Given the description of an element on the screen output the (x, y) to click on. 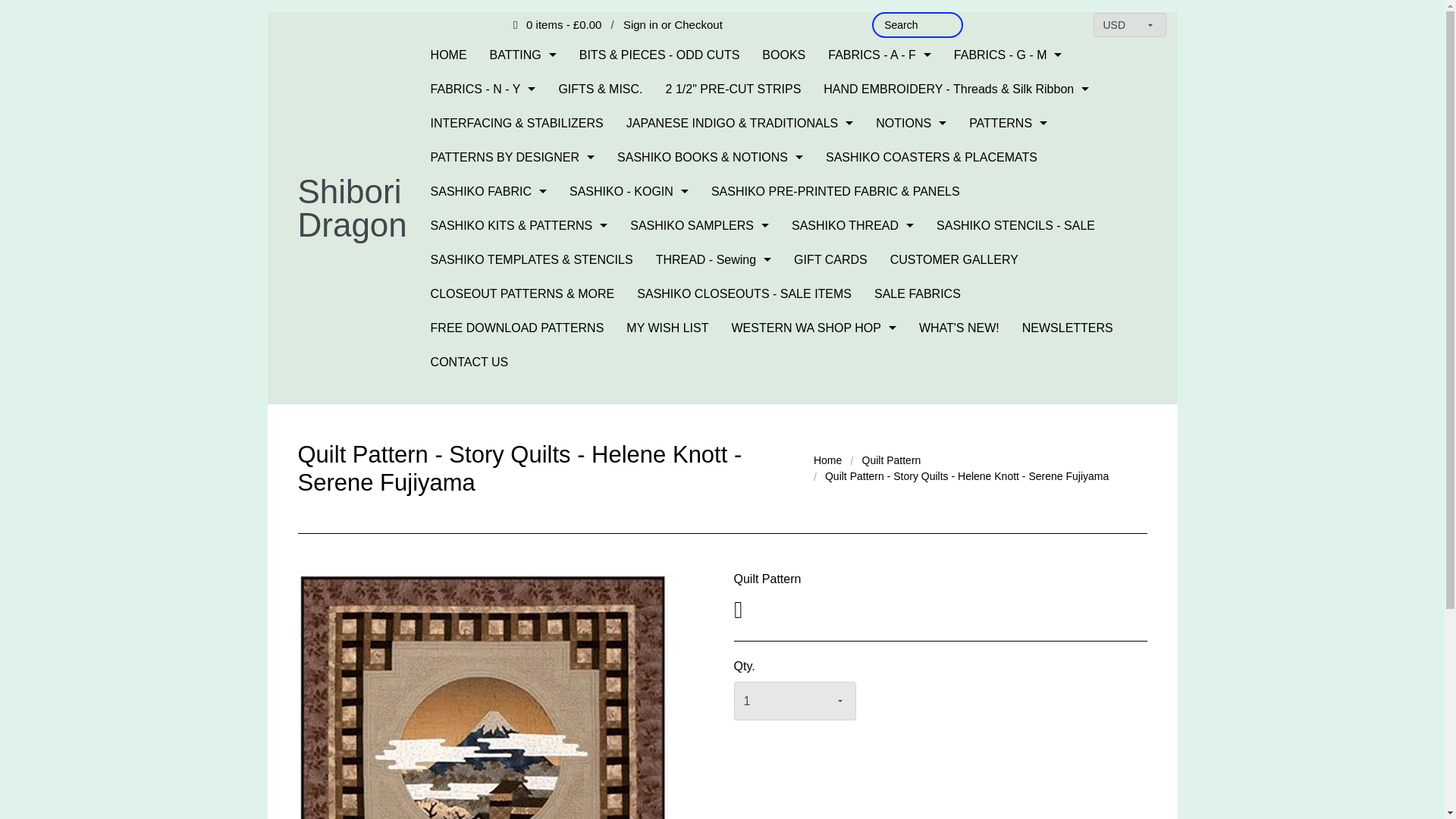
Asian Fabrics (879, 152)
Batik Fabrics (879, 210)
Quilt Pattern (891, 460)
BORO (879, 356)
Black and White Fabrics (879, 297)
Aquatic Steampunkery (879, 122)
Shibori Dragon (351, 207)
Bunnies (879, 385)
Fairy Frost (879, 813)
Charm Squares. Layer Cakes, Rectangles (879, 530)
